Given the description of an element on the screen output the (x, y) to click on. 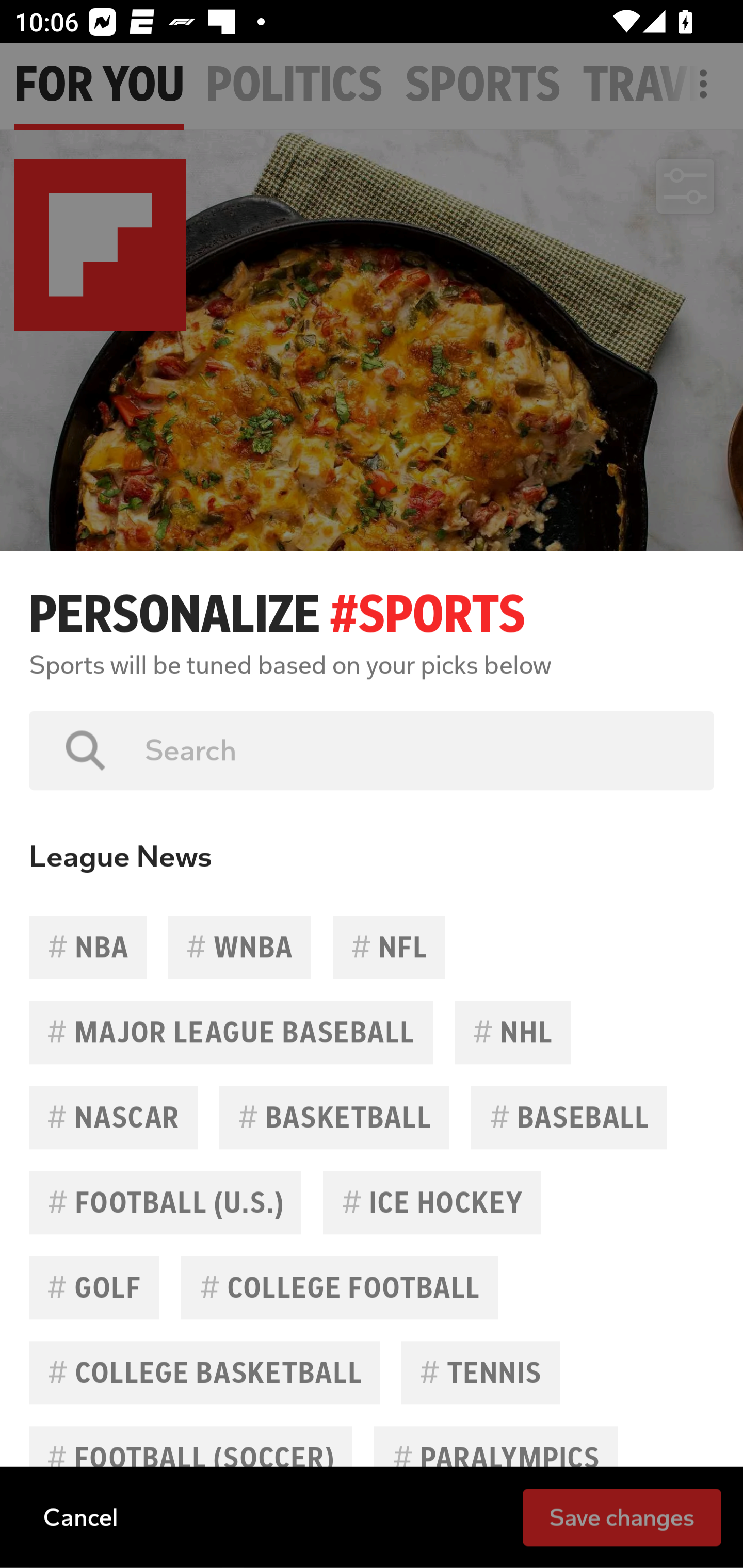
Search (414, 750)
Like 33 (93, 755)
# NBA (87, 946)
# WNBA (239, 946)
# NFL (388, 946)
# MAJOR LEAGUE BASEBALL (230, 1032)
# NHL (512, 1032)
# NASCAR (112, 1117)
# BASKETBALL (334, 1117)
# BASEBALL (569, 1117)
# FOOTBALL (U.S.) (164, 1202)
# ICE HOCKEY (431, 1202)
# GOLF (93, 1286)
# COLLEGE FOOTBALL (339, 1286)
# COLLEGE BASKETBALL (203, 1372)
# TENNIS (480, 1372)
# FOOTBALL (SOCCER) (190, 1457)
# PARALYMPICS (495, 1457)
Cancel (80, 1516)
Save changes (621, 1517)
